Given the description of an element on the screen output the (x, y) to click on. 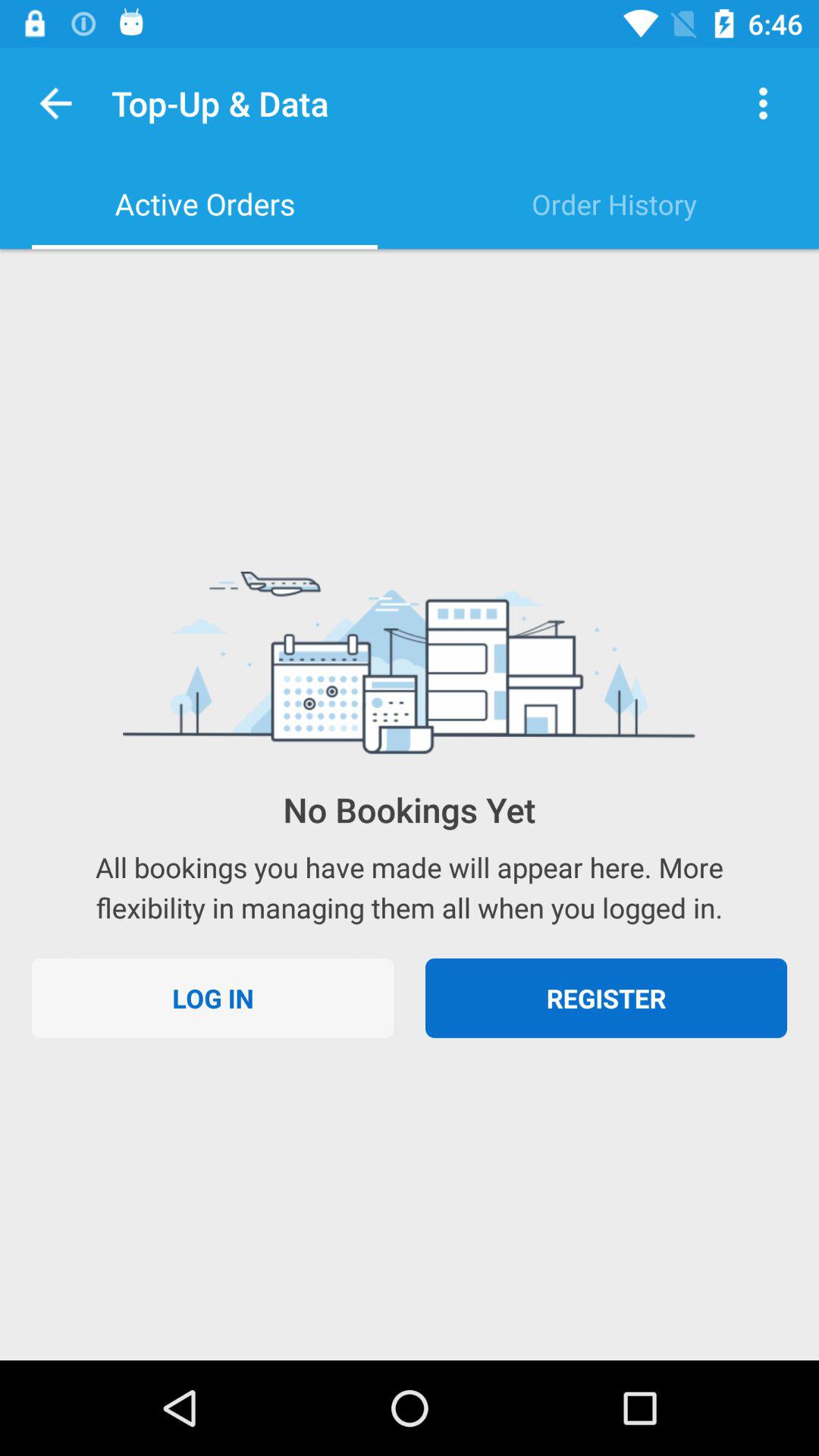
click log in at the bottom left corner (212, 997)
